Given the description of an element on the screen output the (x, y) to click on. 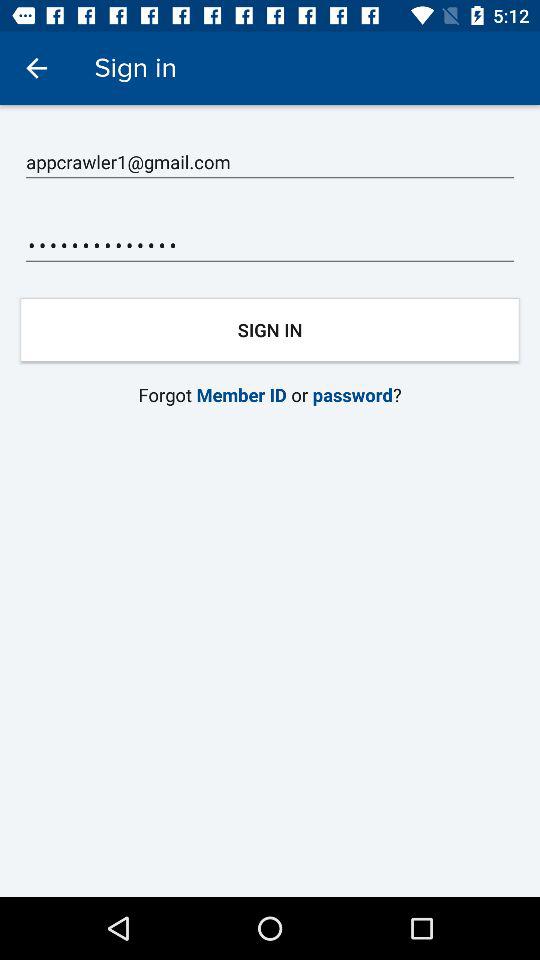
click appcrawler1@gmail.com icon (270, 162)
